Given the description of an element on the screen output the (x, y) to click on. 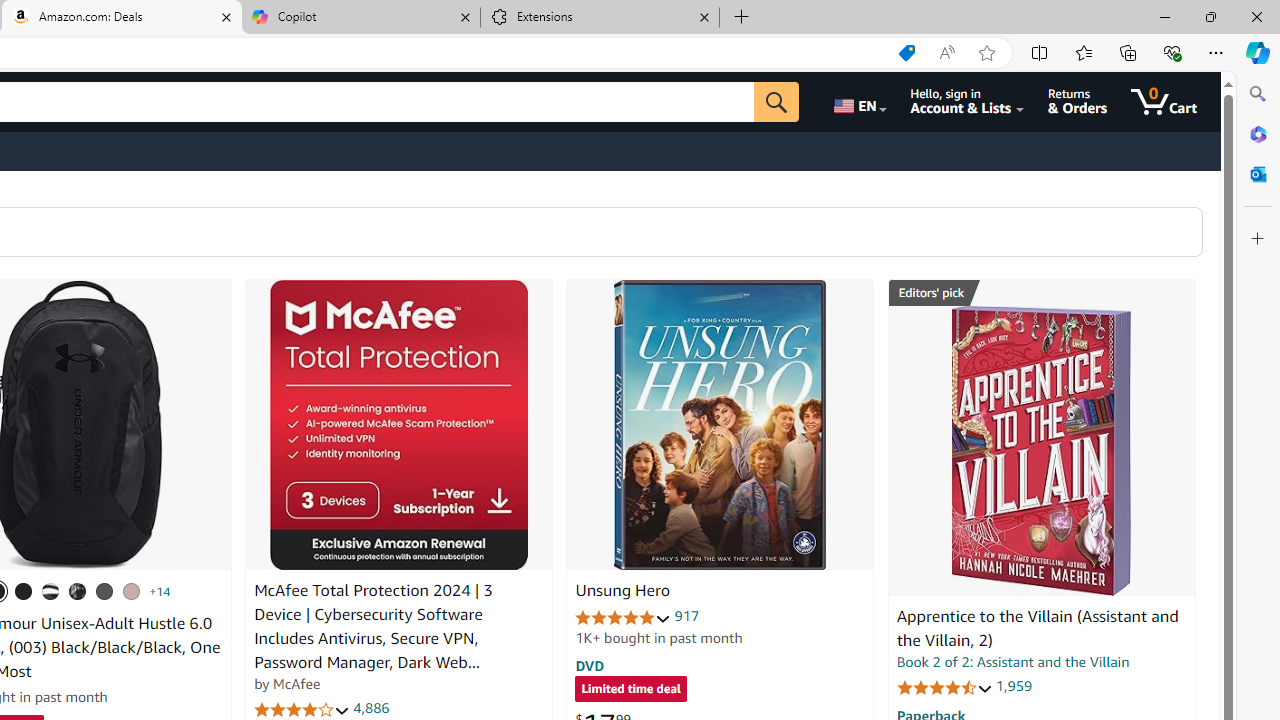
917 (687, 616)
Book 2 of 2: Assistant and the Villain (1013, 662)
Apprentice to the Villain (Assistant and the Villain, 2) (1041, 451)
Copilot (360, 17)
Limited time deal (630, 690)
Hello, sign in Account & Lists (967, 101)
(001) Black / Black / Metallic Gold (24, 591)
